Given the description of an element on the screen output the (x, y) to click on. 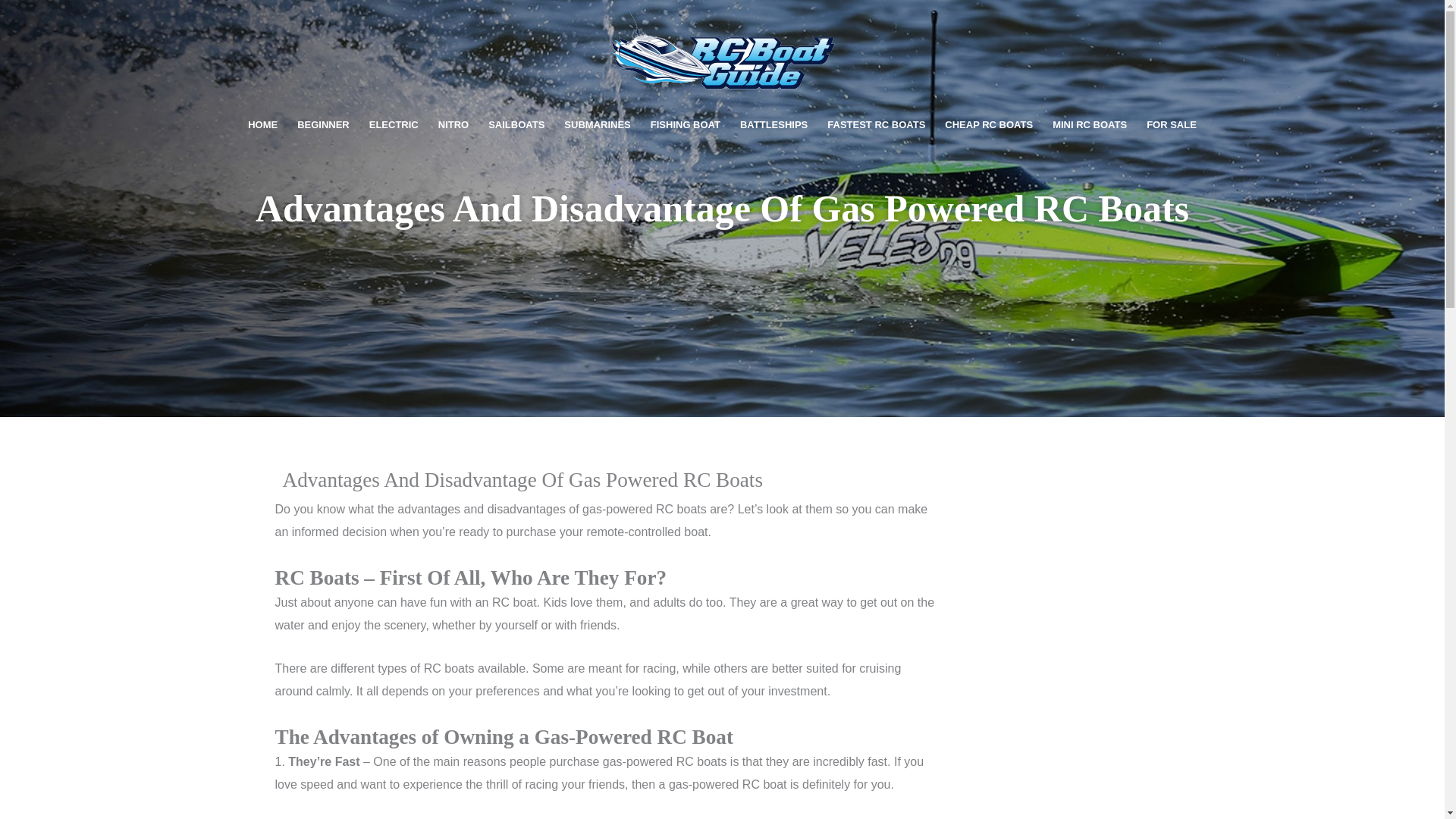
BATTLESHIPS (773, 125)
FISHING BOAT (685, 125)
BEGINNER (322, 125)
HOME (262, 125)
SAILBOATS (516, 125)
FOR SALE (1172, 125)
FASTEST RC BOATS (875, 125)
ELECTRIC (393, 125)
CHEAP RC BOATS (988, 125)
NITRO (453, 125)
MINI RC BOATS (1089, 125)
SUBMARINES (597, 125)
